Given the description of an element on the screen output the (x, y) to click on. 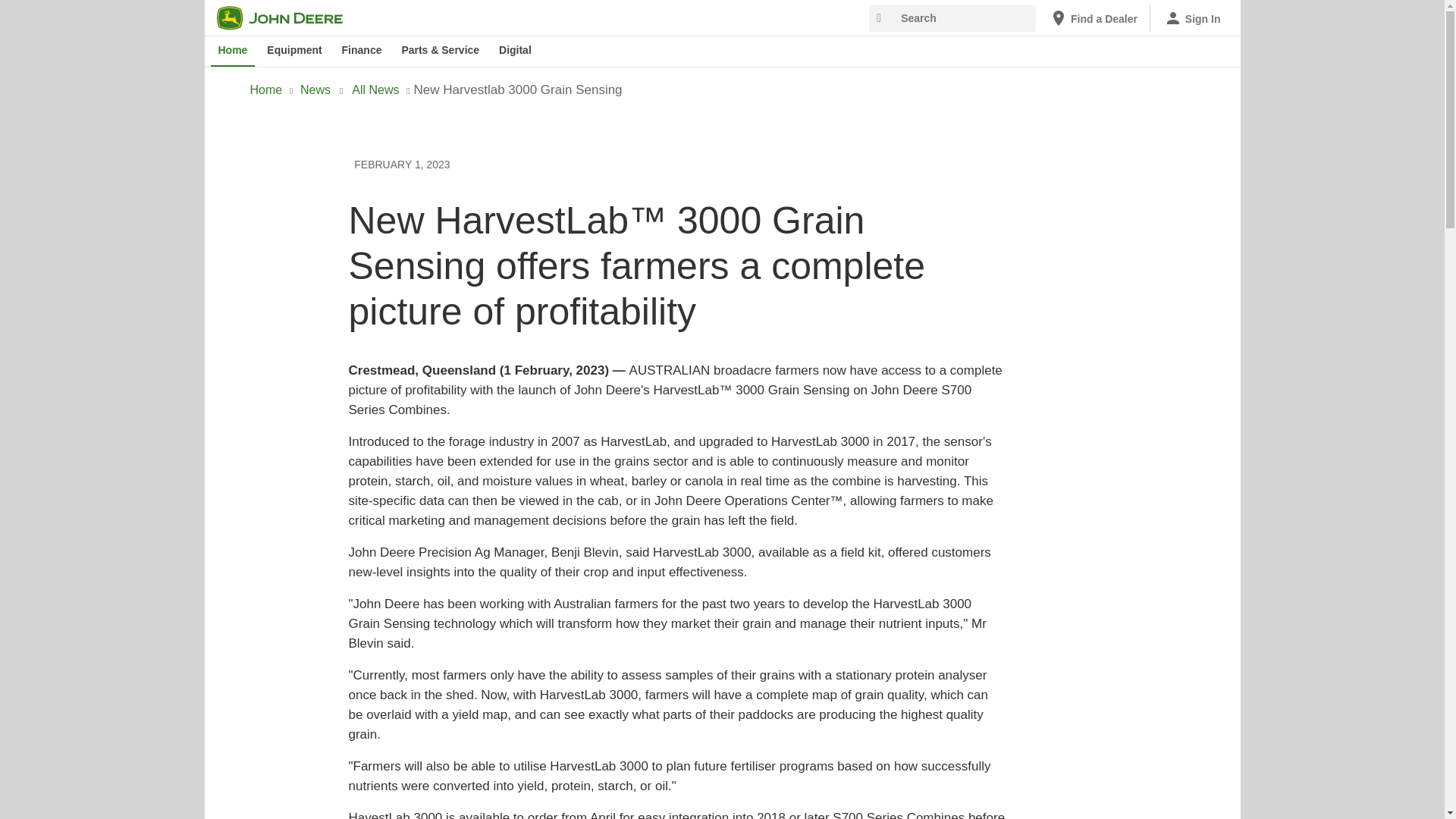
Find a Dealer (1093, 17)
Skip to main content (214, 11)
Home (233, 51)
Sign In (1192, 17)
Finance (362, 51)
Digital (515, 51)
Equipment (294, 51)
John Deere (288, 17)
